Given the description of an element on the screen output the (x, y) to click on. 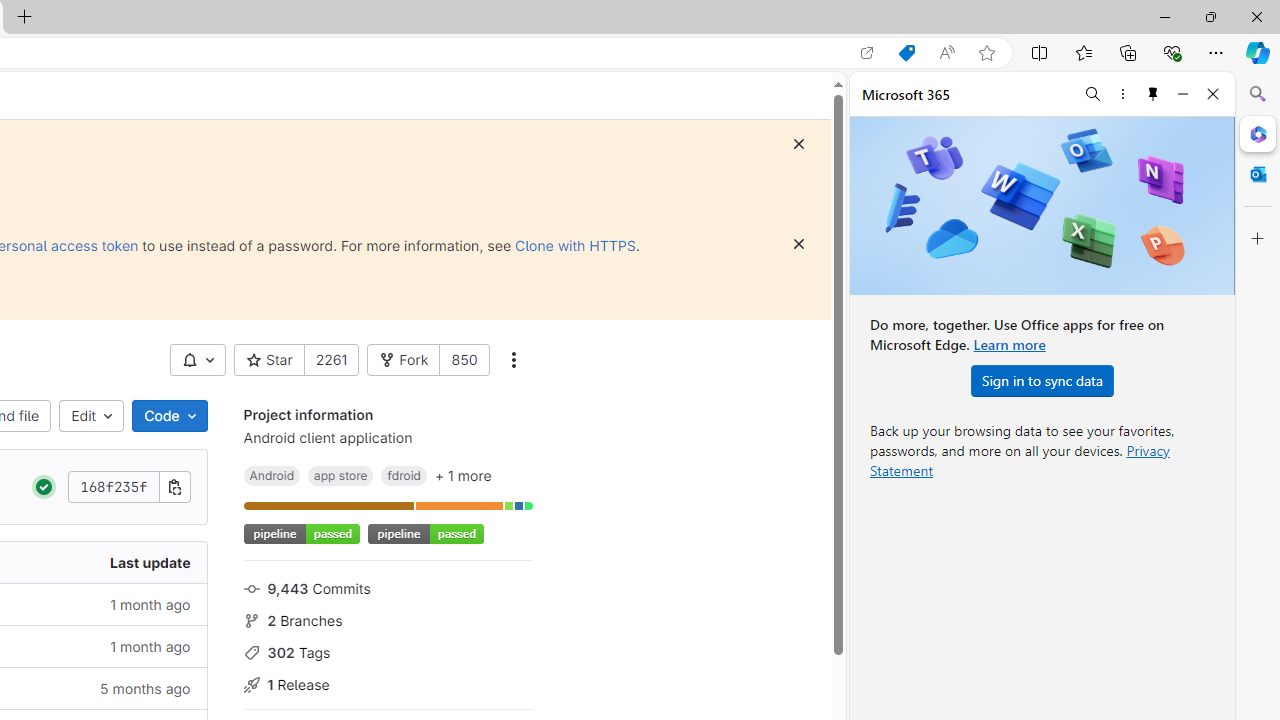
Project badge (425, 534)
302 Tags (387, 651)
AutomationID: __BVID__332__BV_toggle_ (198, 359)
850 (464, 359)
Class: s16 icon gl-mr-3 gl-text-gray-500 (251, 685)
Open in app (867, 53)
Copy commit SHA (173, 486)
2 Branches (387, 619)
Sign in to sync data (1042, 380)
Project badge (425, 534)
2261 (331, 359)
